Given the description of an element on the screen output the (x, y) to click on. 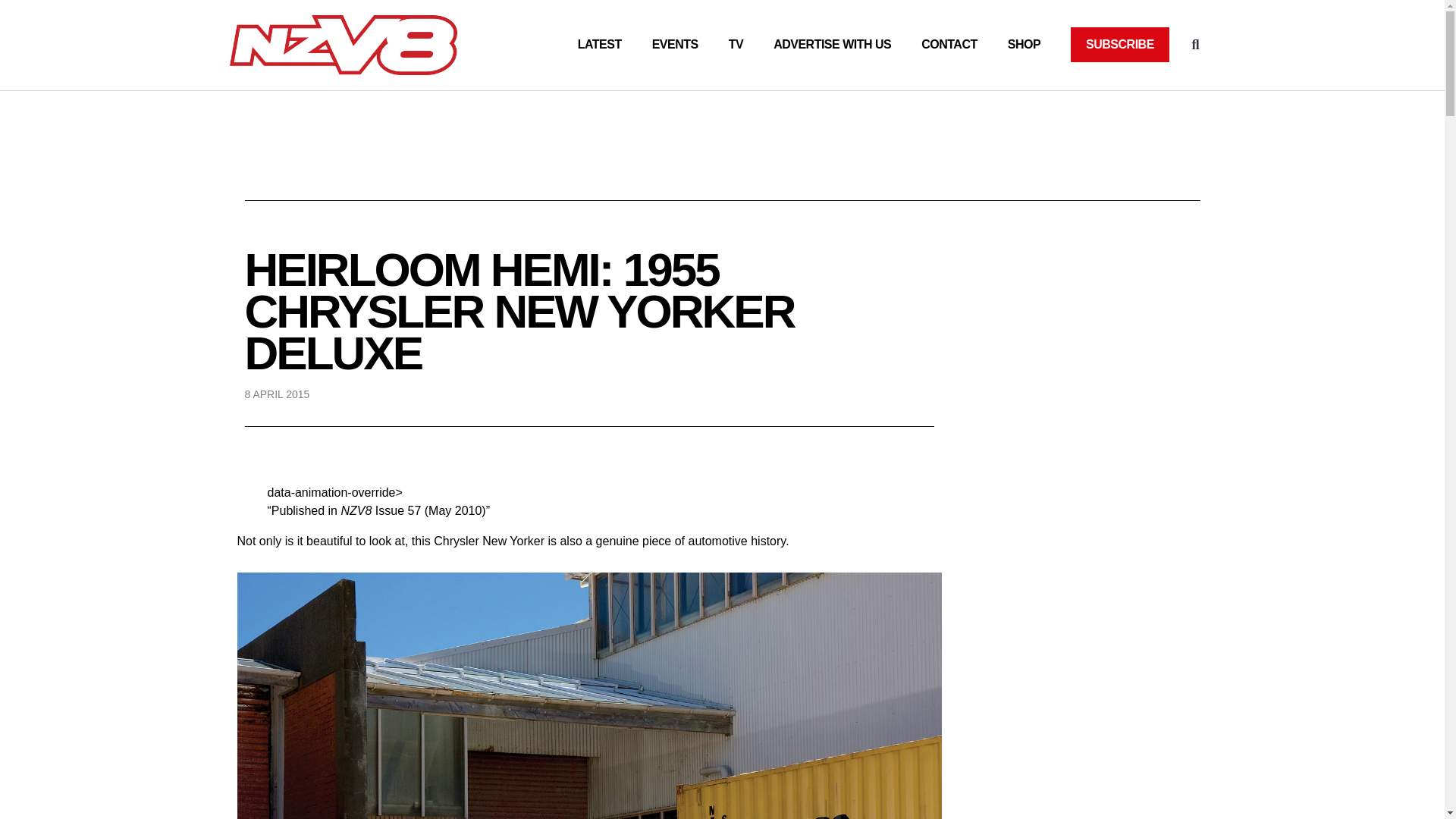
LATEST (599, 44)
CONTACT (948, 44)
ADVERTISE WITH US (831, 44)
SUBSCRIBE (1119, 44)
EVENTS (675, 44)
SHOP (1023, 44)
TV (735, 44)
